Given the description of an element on the screen output the (x, y) to click on. 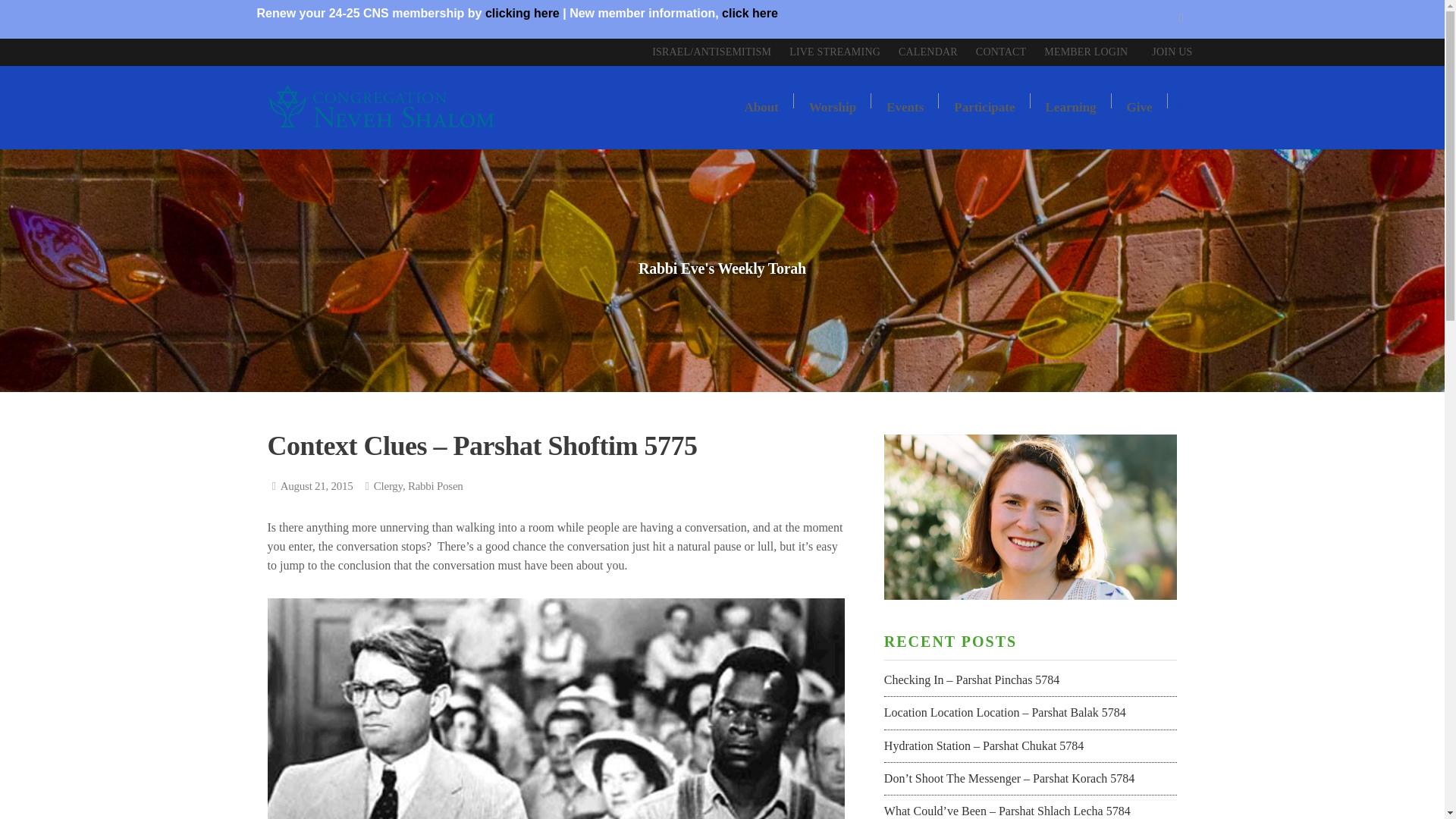
clicking here (521, 12)
click here (749, 12)
